Given the description of an element on the screen output the (x, y) to click on. 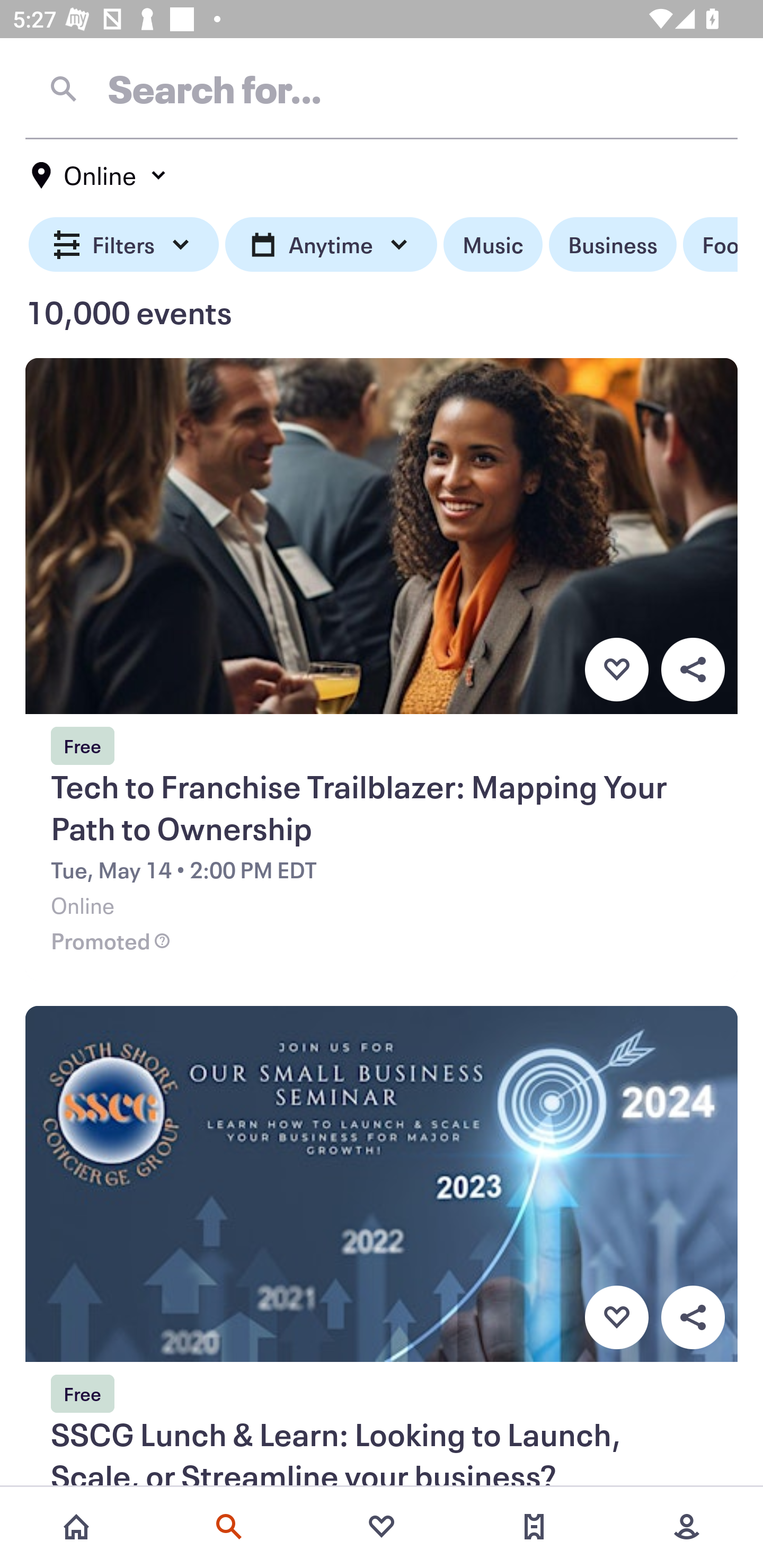
Search for… (381, 88)
Online (99, 175)
Filters (123, 244)
Anytime (331, 244)
Music (492, 244)
Business (612, 244)
Favorite button (616, 669)
Overflow menu button (692, 669)
Favorite button (616, 1317)
Overflow menu button (692, 1317)
Home (76, 1526)
Search events (228, 1526)
Favorites (381, 1526)
Tickets (533, 1526)
More (686, 1526)
